Given the description of an element on the screen output the (x, y) to click on. 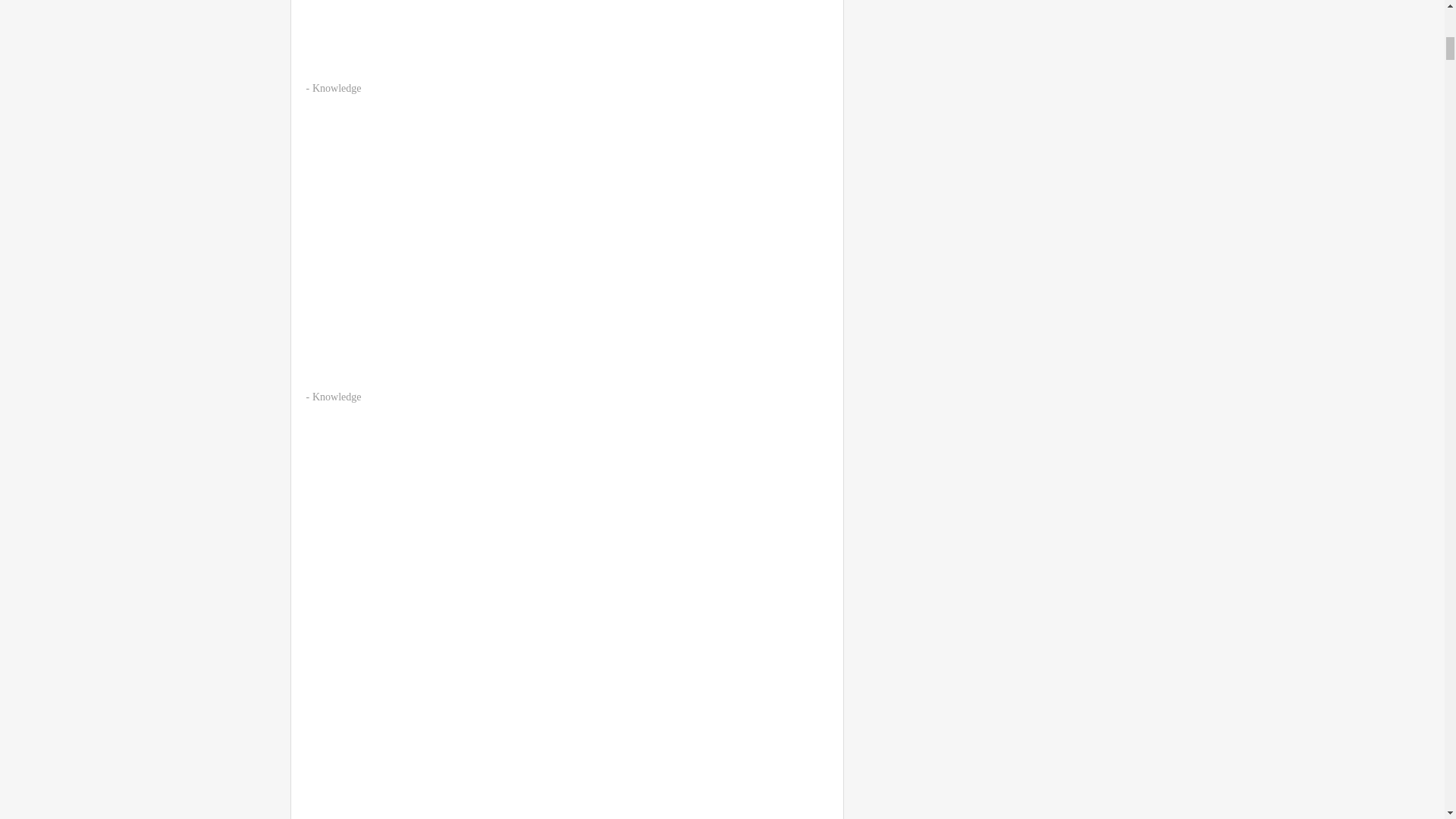
Knowledge (337, 88)
Knowledge (337, 396)
